Given the description of an element on the screen output the (x, y) to click on. 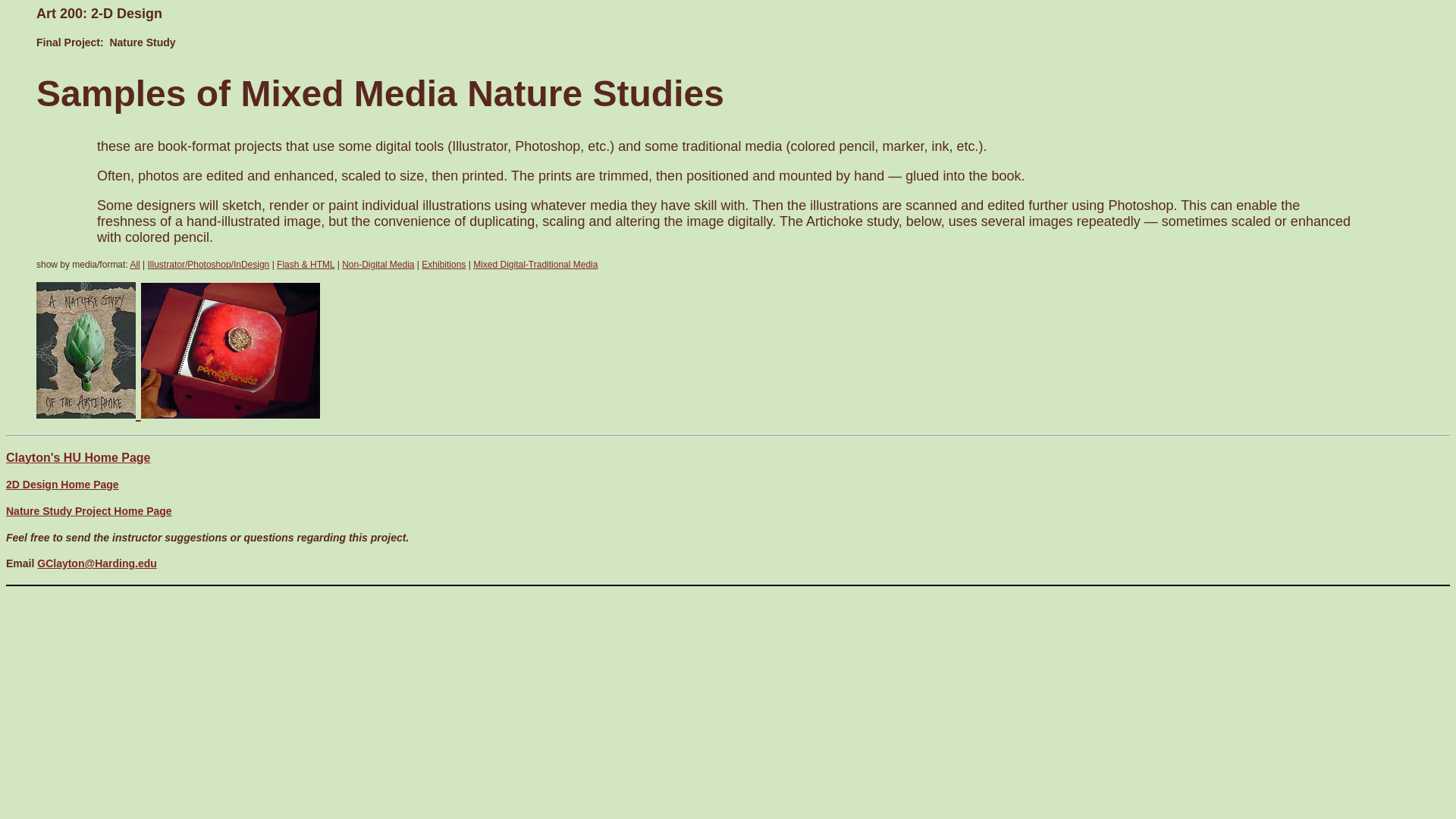
All (134, 264)
Mixed Digital-Traditional Media (534, 264)
Nature Study Project Home Page (88, 510)
Clayton's HU Home Page (78, 458)
Exhibitions (443, 264)
2D Design Home Page (62, 484)
Non-Digital Media (377, 264)
